Given the description of an element on the screen output the (x, y) to click on. 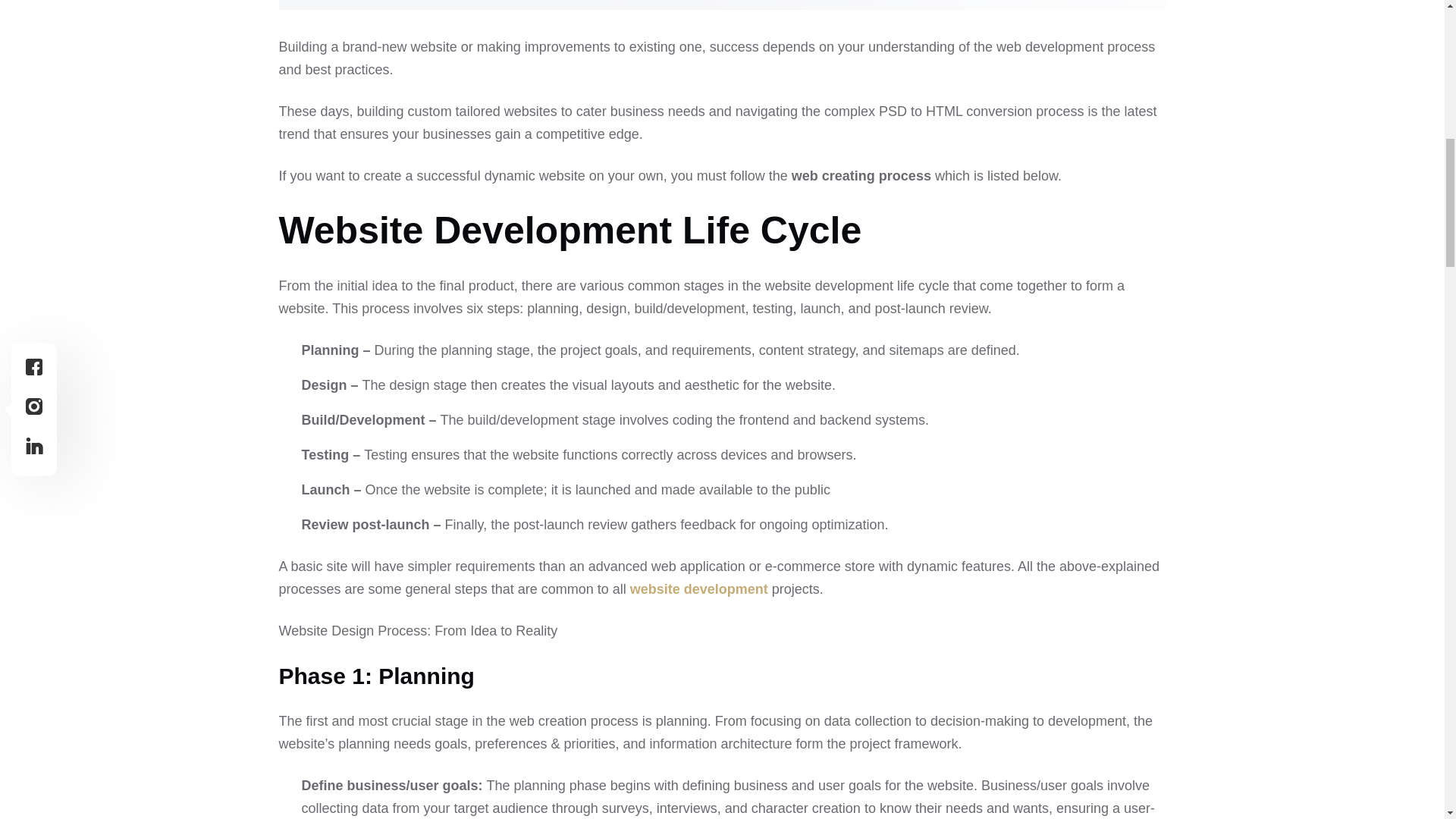
website development (699, 589)
